Given the description of an element on the screen output the (x, y) to click on. 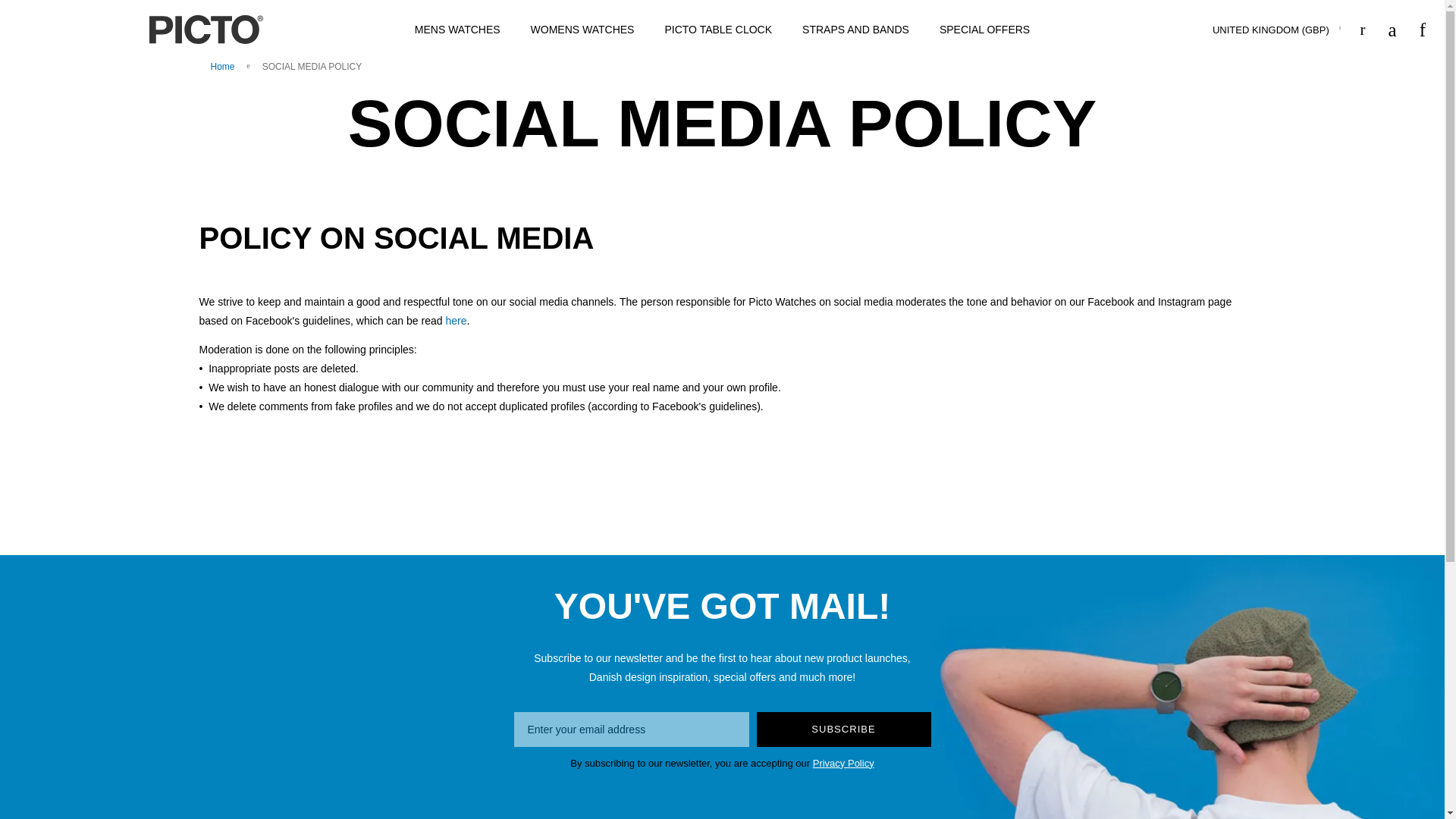
STRAPS AND BANDS (855, 29)
Subscribe (844, 728)
here (455, 320)
Home (224, 66)
Privacy Policy (843, 763)
Go to Home Page (224, 66)
WOMENS WATCHES (582, 29)
SPECIAL OFFERS (984, 29)
MENS WATCHES (456, 29)
SUBSCRIBE (844, 728)
PICTO TABLE CLOCK (718, 29)
